Given the description of an element on the screen output the (x, y) to click on. 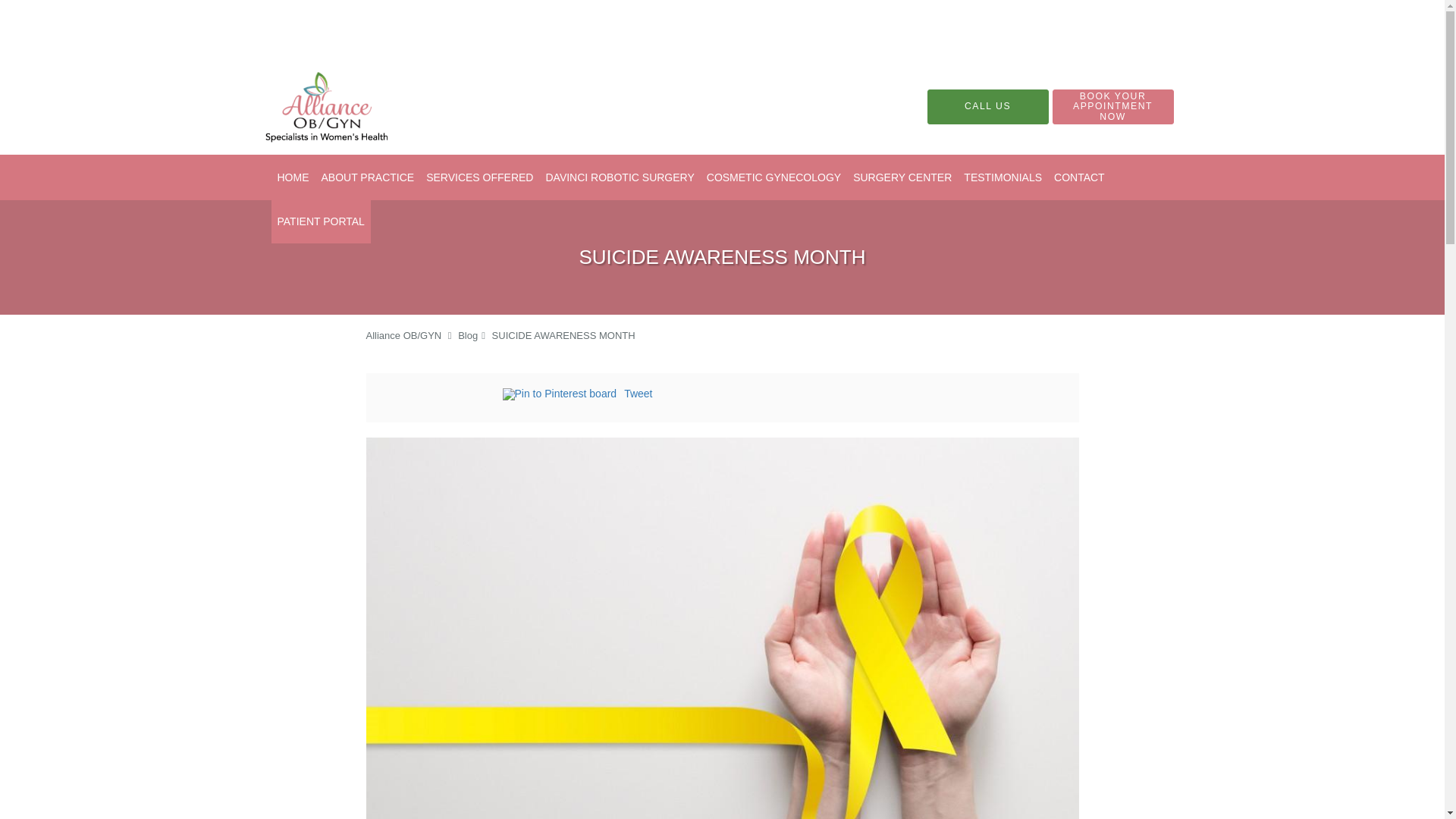
CALL US (987, 106)
BOOK YOUR APPOINTMENT NOW (1112, 106)
ABOUT PRACTICE (367, 177)
Facebook social button (441, 396)
HOME (292, 177)
SERVICES OFFERED (479, 177)
